Given the description of an element on the screen output the (x, y) to click on. 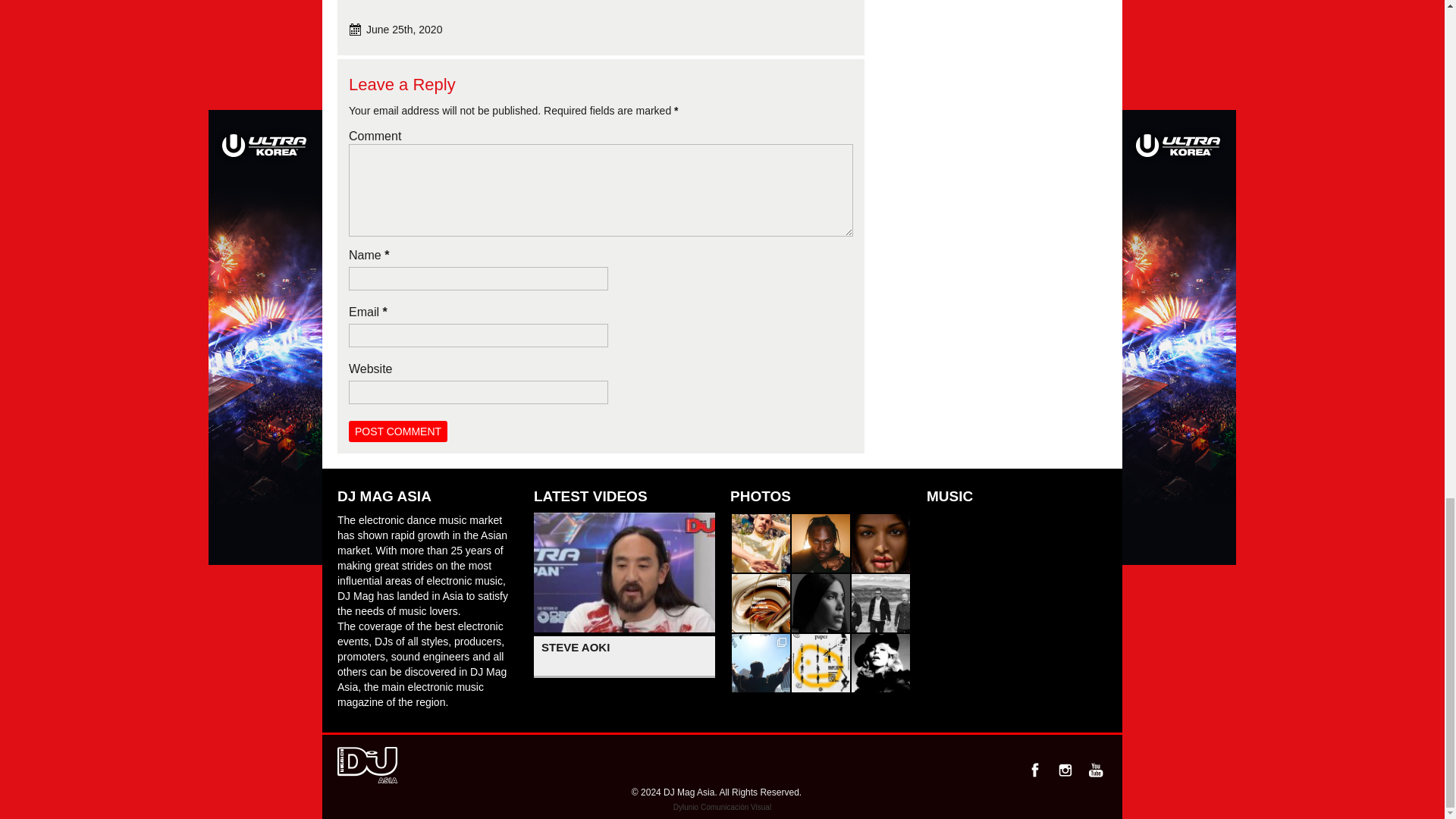
Post Comment (397, 430)
instagram (1065, 769)
MORGAN HISLOP AND ORCHID LINK UP ON NEW SINGLE (761, 543)
Post Comment (397, 430)
STEVE AOKI (624, 657)
youtube (1095, 769)
facebook (1034, 769)
After his successful passage through the 22nd edit (761, 662)
